Given the description of an element on the screen output the (x, y) to click on. 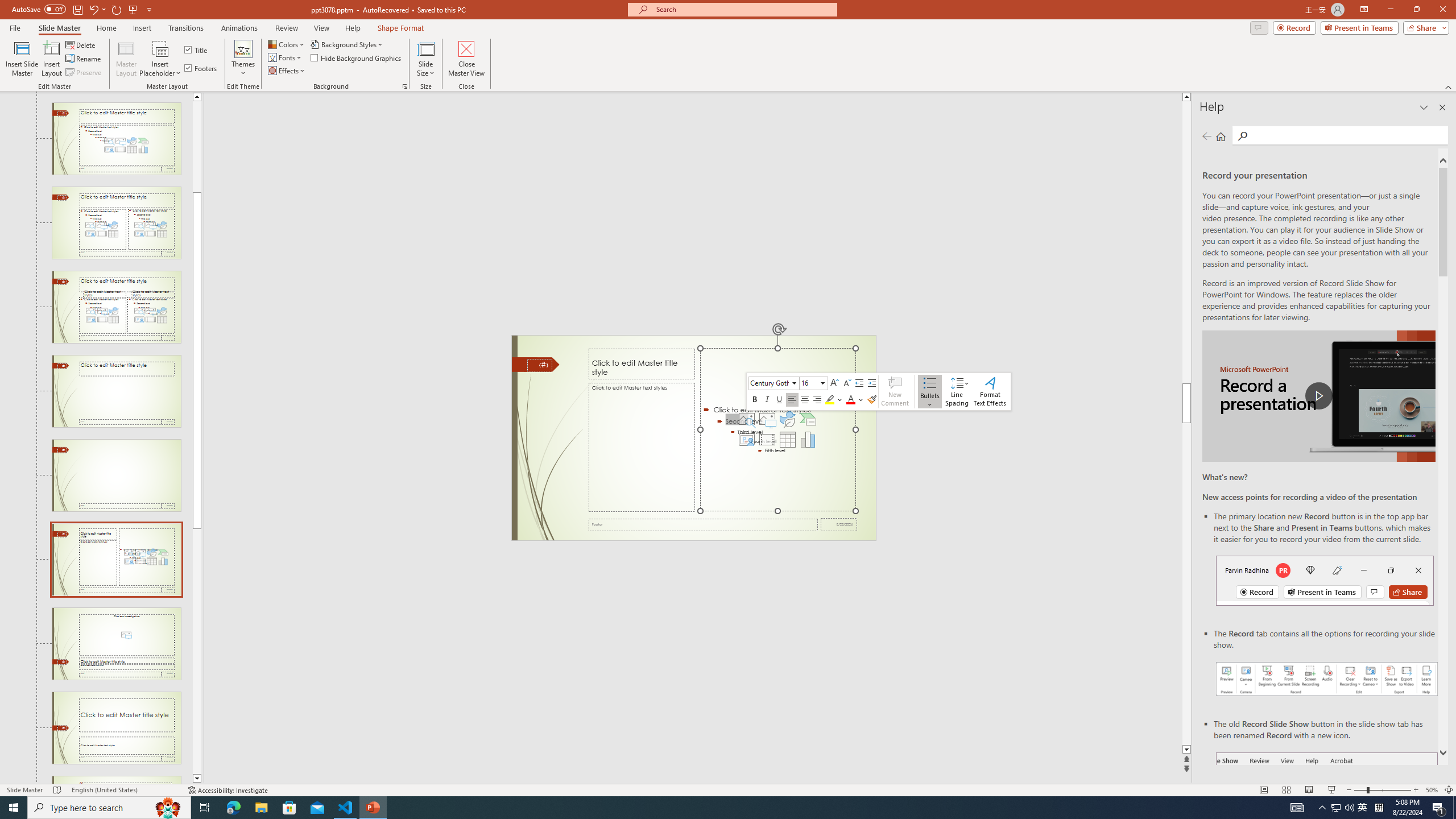
TextBox (641, 446)
Footers (201, 67)
Themes (243, 58)
Content Placeholder (778, 429)
Pictures (767, 419)
